Given the description of an element on the screen output the (x, y) to click on. 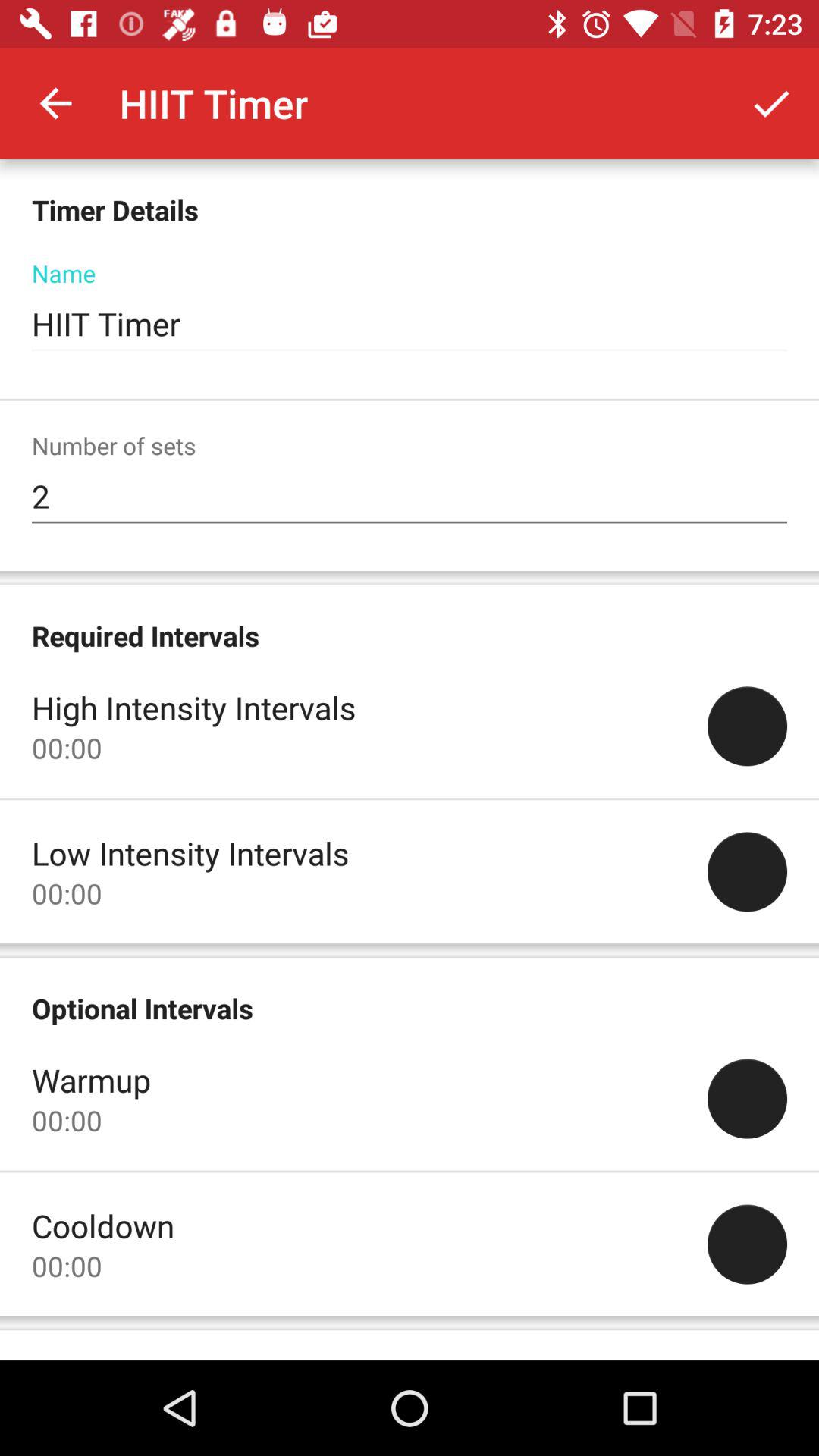
tap 2 item (409, 496)
